Given the description of an element on the screen output the (x, y) to click on. 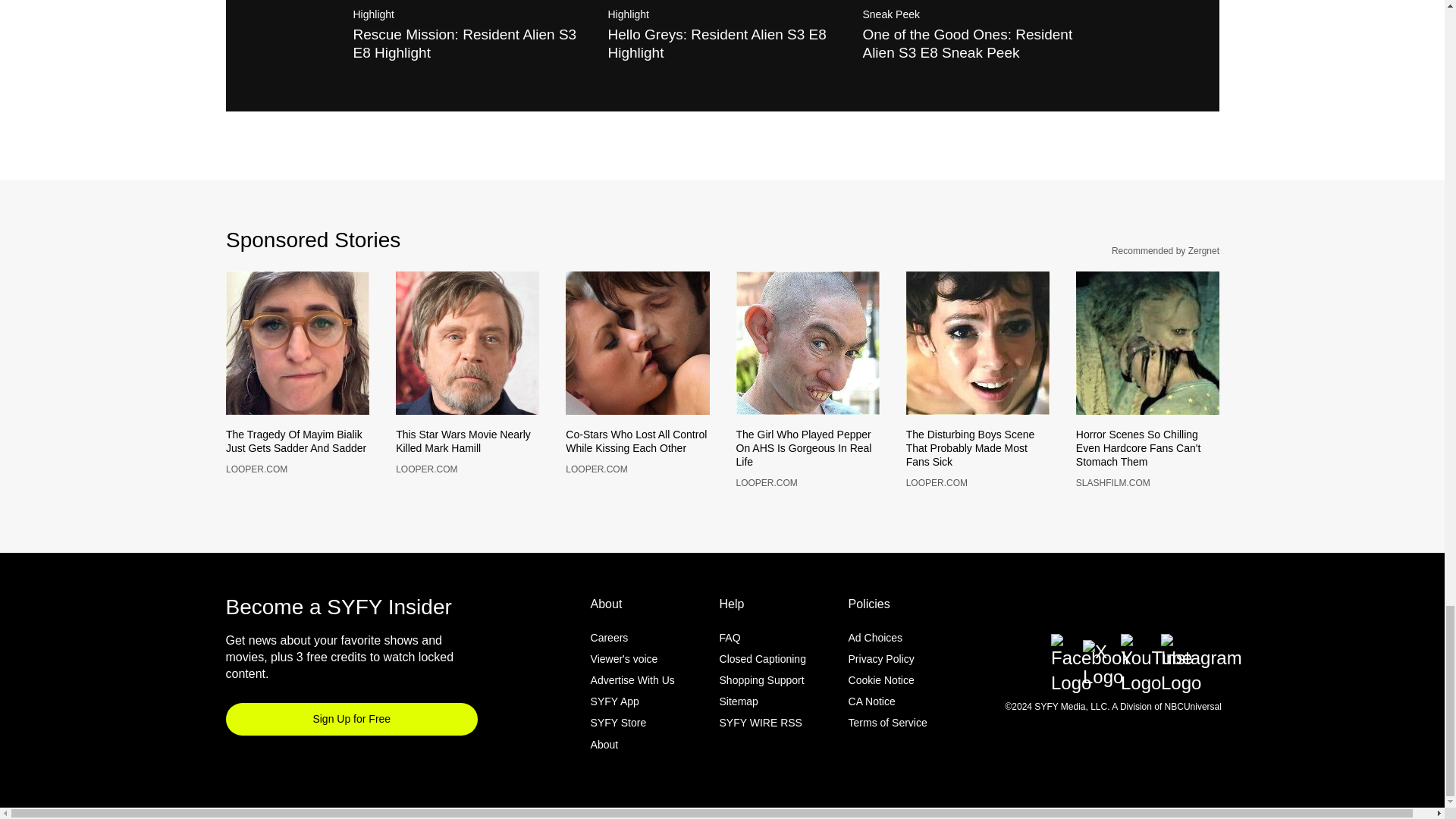
Advertise With Us (633, 705)
